Given the description of an element on the screen output the (x, y) to click on. 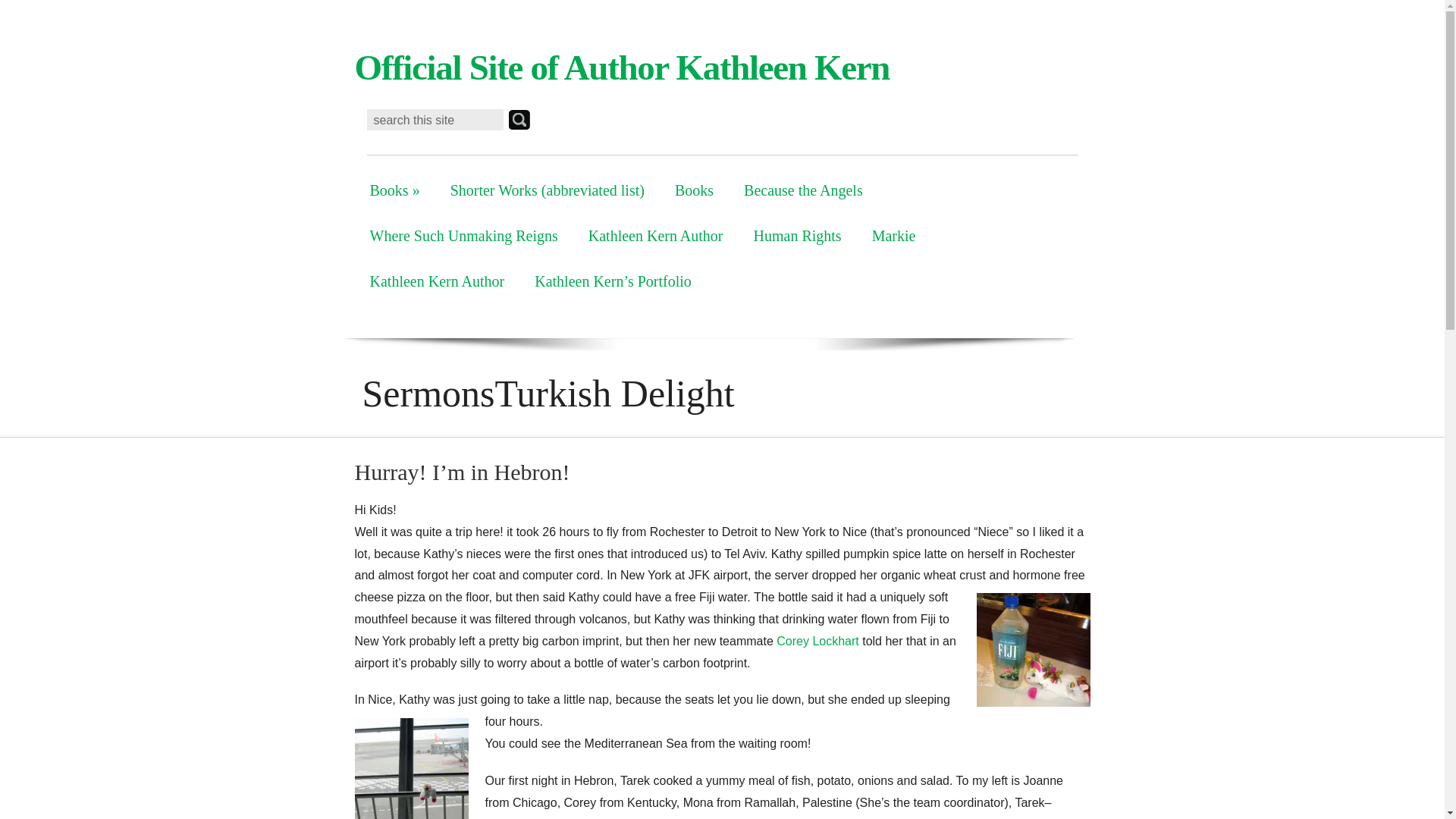
Markie (894, 235)
Books (694, 189)
Corey Lockhart (817, 640)
Kathleen Kern Author (655, 235)
Where Such Unmaking Reigns (464, 235)
Kathleen Kern Author (437, 280)
Official Site of Author Kathleen Kern (622, 66)
Because the Angels (803, 189)
Human Rights (797, 235)
search this site (435, 120)
